Given the description of an element on the screen output the (x, y) to click on. 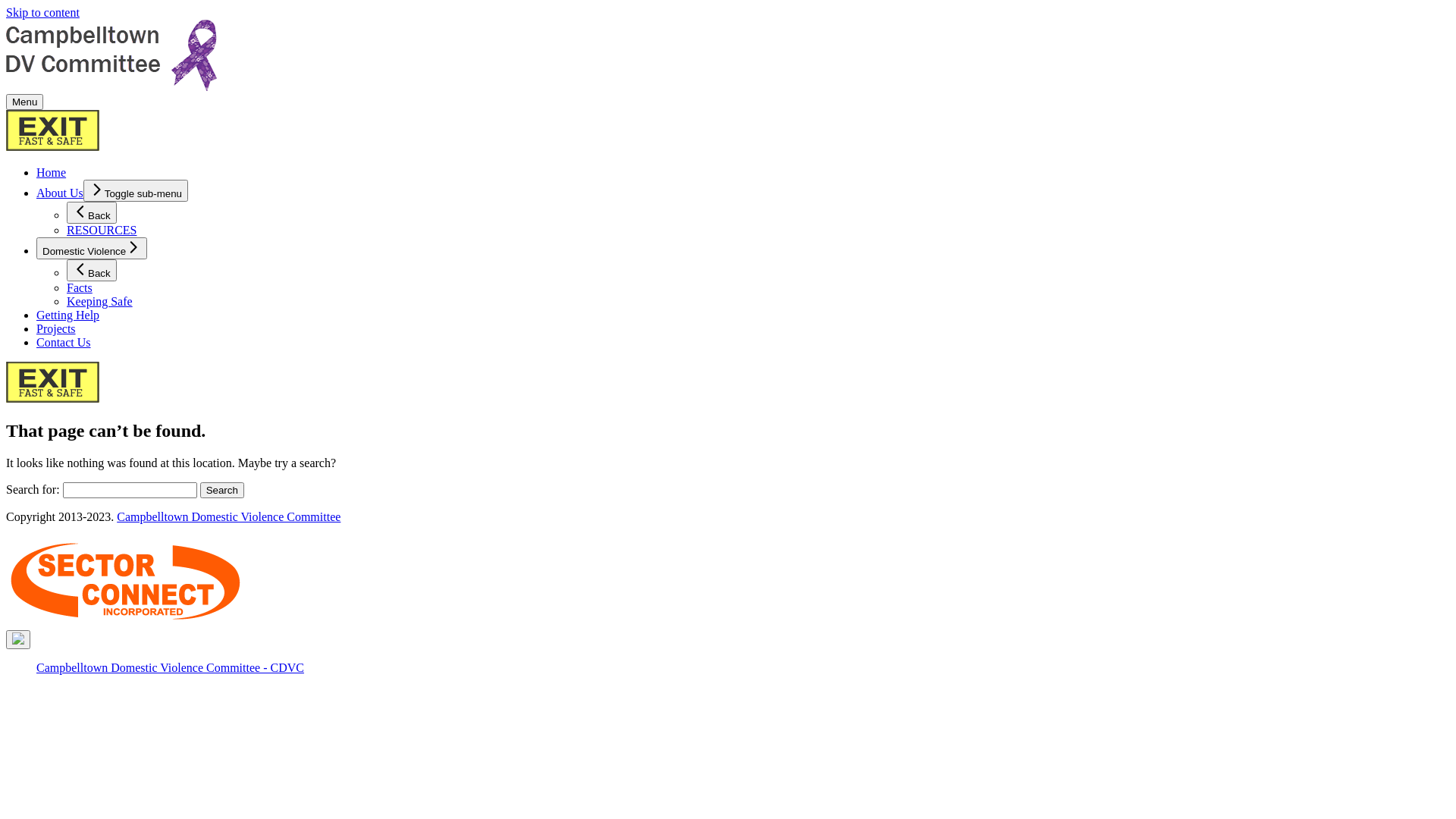
Facts Element type: text (79, 287)
Keeping Safe Element type: text (99, 300)
Contact Us Element type: text (63, 341)
Search Element type: text (222, 490)
Menu Element type: text (24, 101)
Back Element type: text (91, 212)
Home Element type: text (50, 172)
About Us Element type: text (59, 192)
Getting Help Element type: text (67, 314)
Skip to content Element type: text (42, 12)
Toggle sub-menu Element type: text (135, 190)
Campbelltown Domestic Violence Committee Element type: text (228, 516)
Projects Element type: text (55, 328)
Campbelltown Domestic Violence Committee - CDVC Element type: text (170, 667)
Back Element type: text (91, 270)
Domestic Violence Element type: text (91, 248)
RESOURCES Element type: text (101, 229)
